Given the description of an element on the screen output the (x, y) to click on. 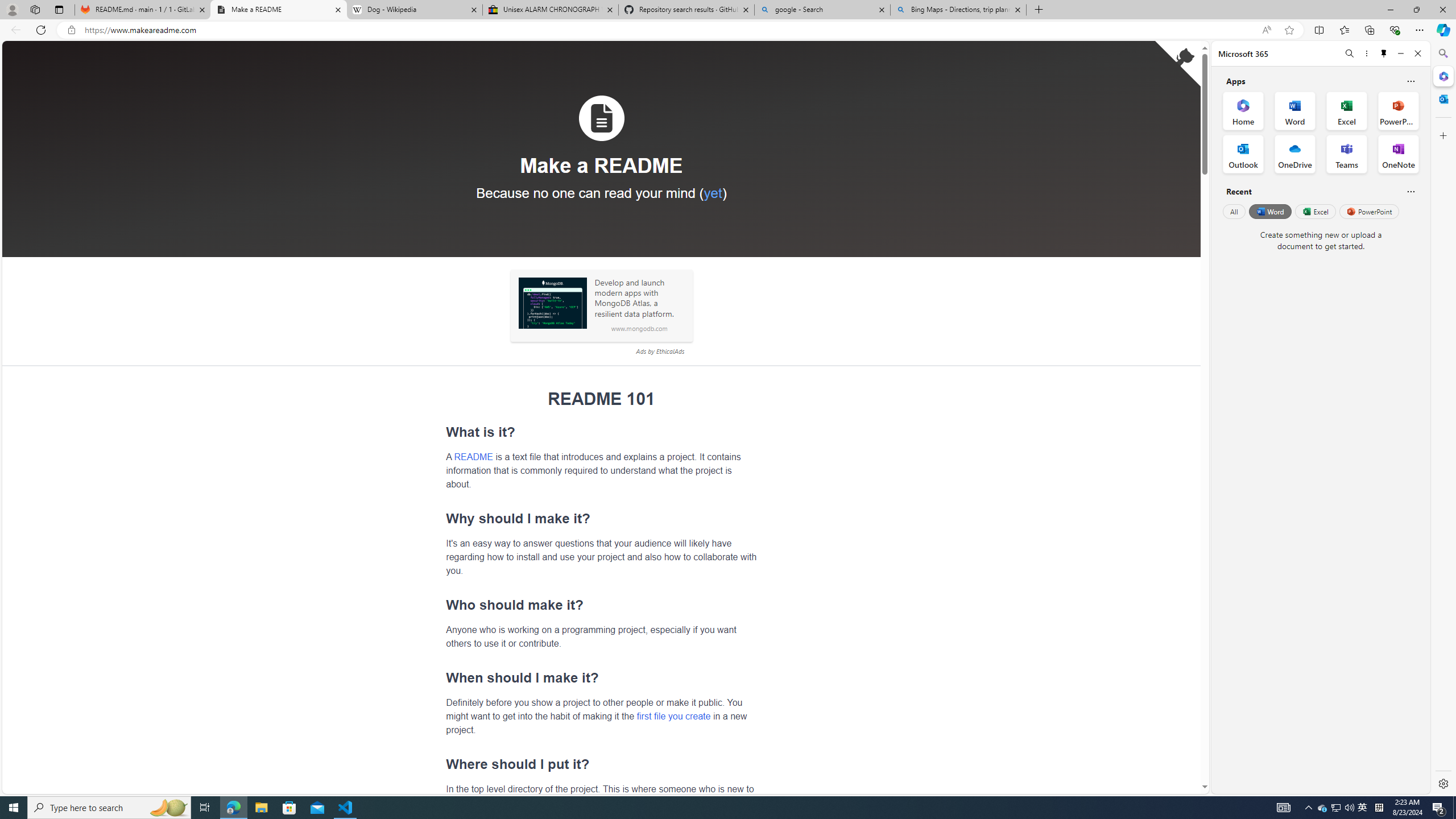
Unpin side pane (1383, 53)
first file you create (673, 715)
Excel Office App (1346, 110)
Dog - Wikipedia (414, 9)
Anchor (440, 764)
OneDrive Office App (1295, 154)
Is this helpful? (1410, 191)
